Given the description of an element on the screen output the (x, y) to click on. 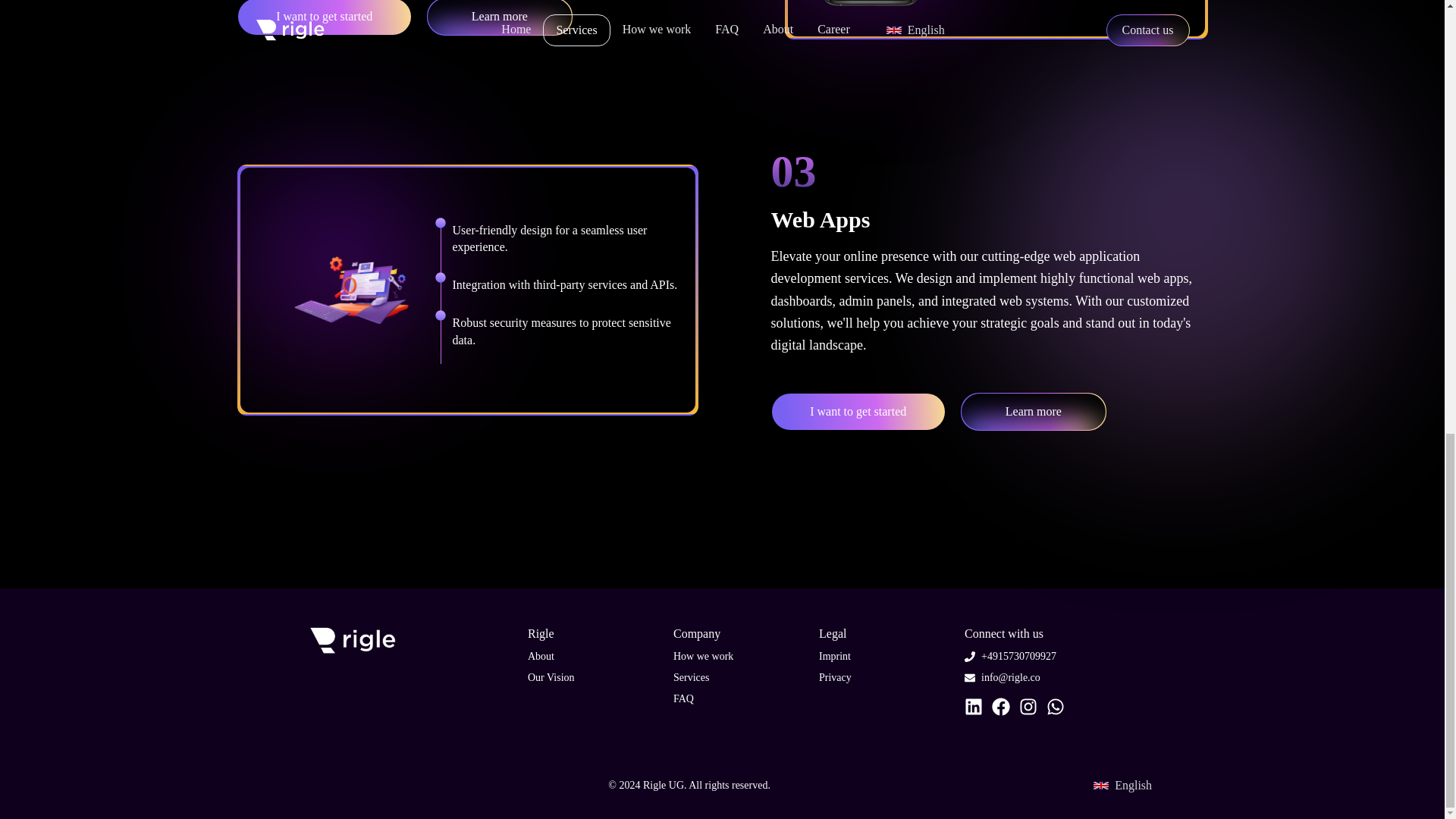
Services (690, 677)
I want to get started (857, 411)
About (540, 655)
English (1120, 785)
I want to get started (322, 18)
Our Vision (551, 677)
Imprint (834, 655)
How we work (702, 655)
Learn more (499, 18)
Learn more (1033, 411)
